Given the description of an element on the screen output the (x, y) to click on. 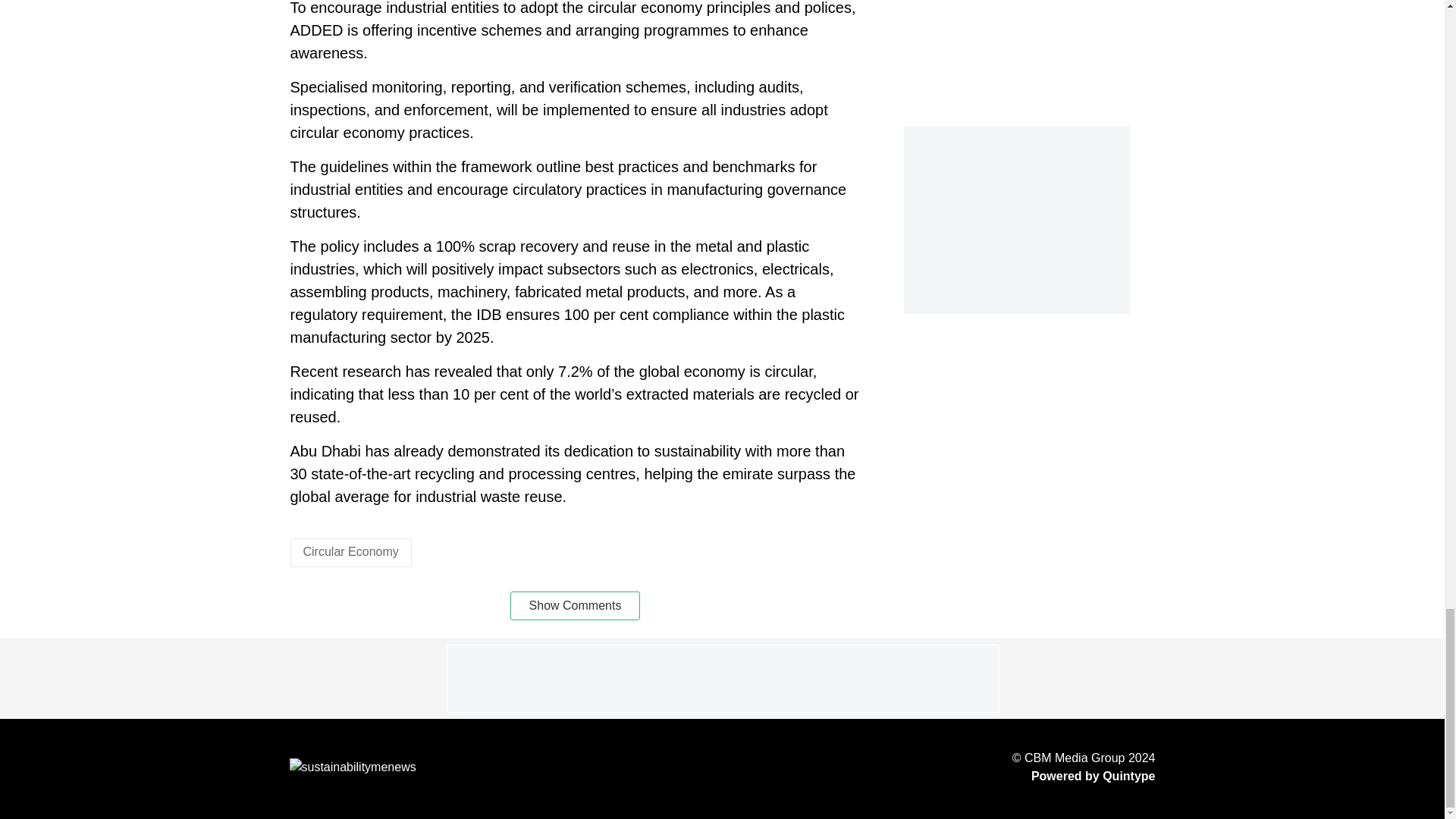
Show Comments (575, 605)
Circular Economy (350, 551)
Powered by Quintype (1083, 776)
